Given the description of an element on the screen output the (x, y) to click on. 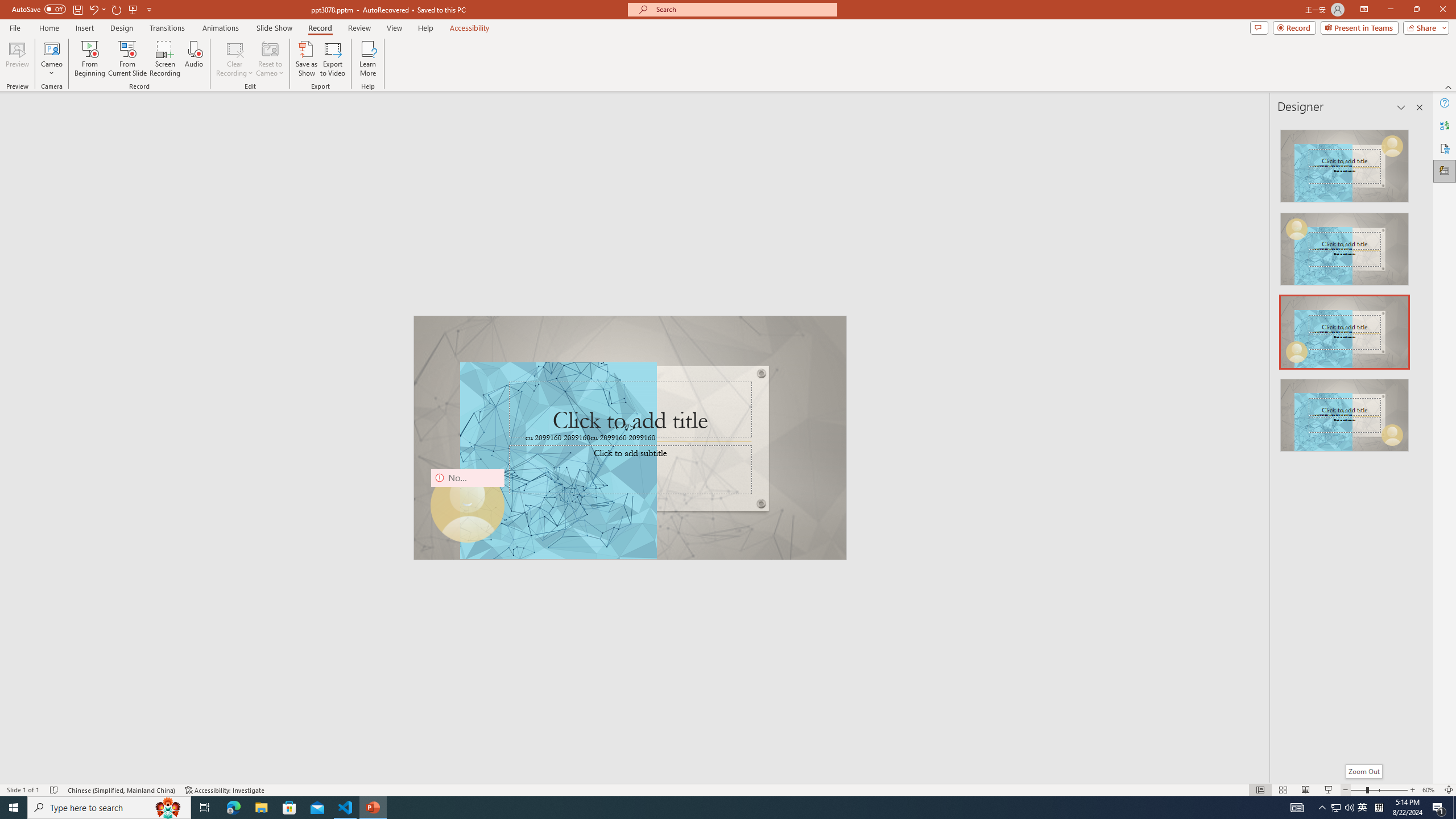
Zoom Out (1364, 771)
An abstract genetic concept (629, 437)
Class: MsoCommandBar (728, 789)
Share (1423, 27)
Spell Check No Errors (54, 790)
Insert (83, 28)
Camera 9, No camera detected. (467, 505)
Close (1442, 9)
TextBox 61 (628, 438)
Reading View (1305, 790)
Help (1444, 102)
Transitions (167, 28)
